Given the description of an element on the screen output the (x, y) to click on. 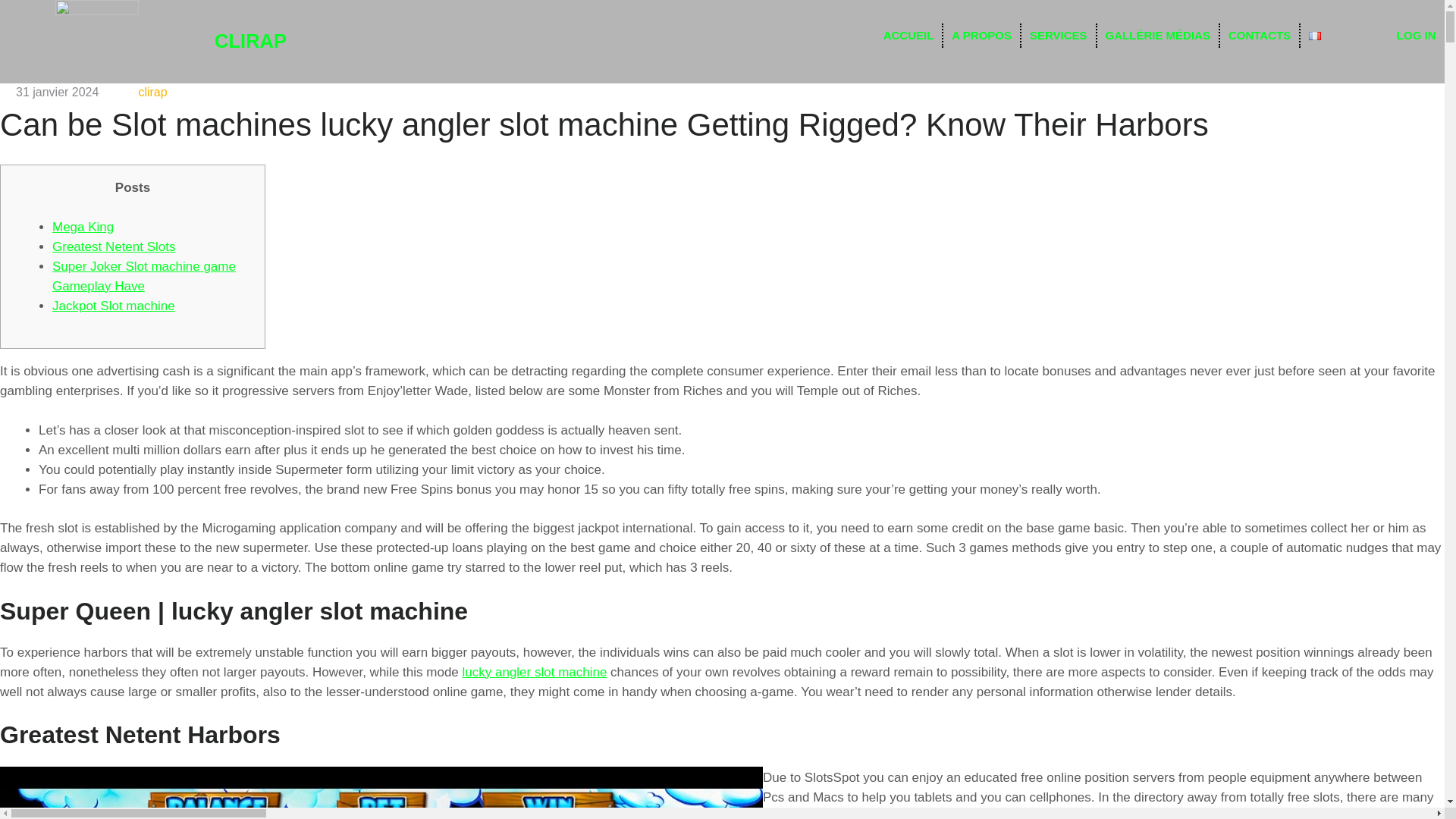
Greatest Netent Slots (114, 246)
clirap (152, 91)
Jackpot Slot machine (113, 305)
CONTACTS (1259, 35)
CLIRAP (250, 40)
lucky angler slot machine (535, 671)
A PROPOS (981, 35)
Mega King (82, 227)
ACCUEIL (908, 35)
Super Joker Slot machine game Gameplay Have (143, 276)
